Given the description of an element on the screen output the (x, y) to click on. 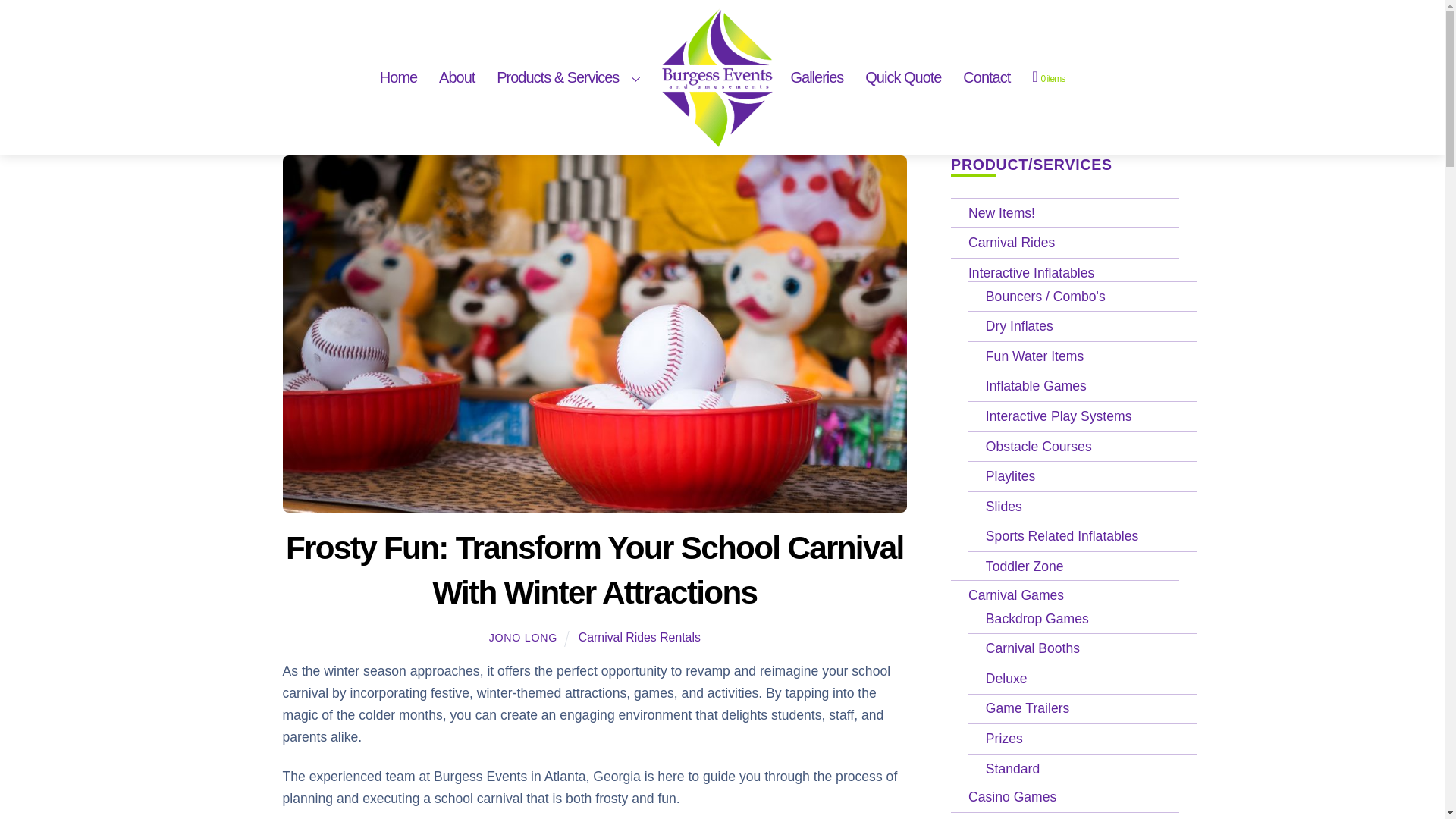
Start shopping (1048, 77)
Home (398, 77)
About (456, 77)
